Given the description of an element on the screen output the (x, y) to click on. 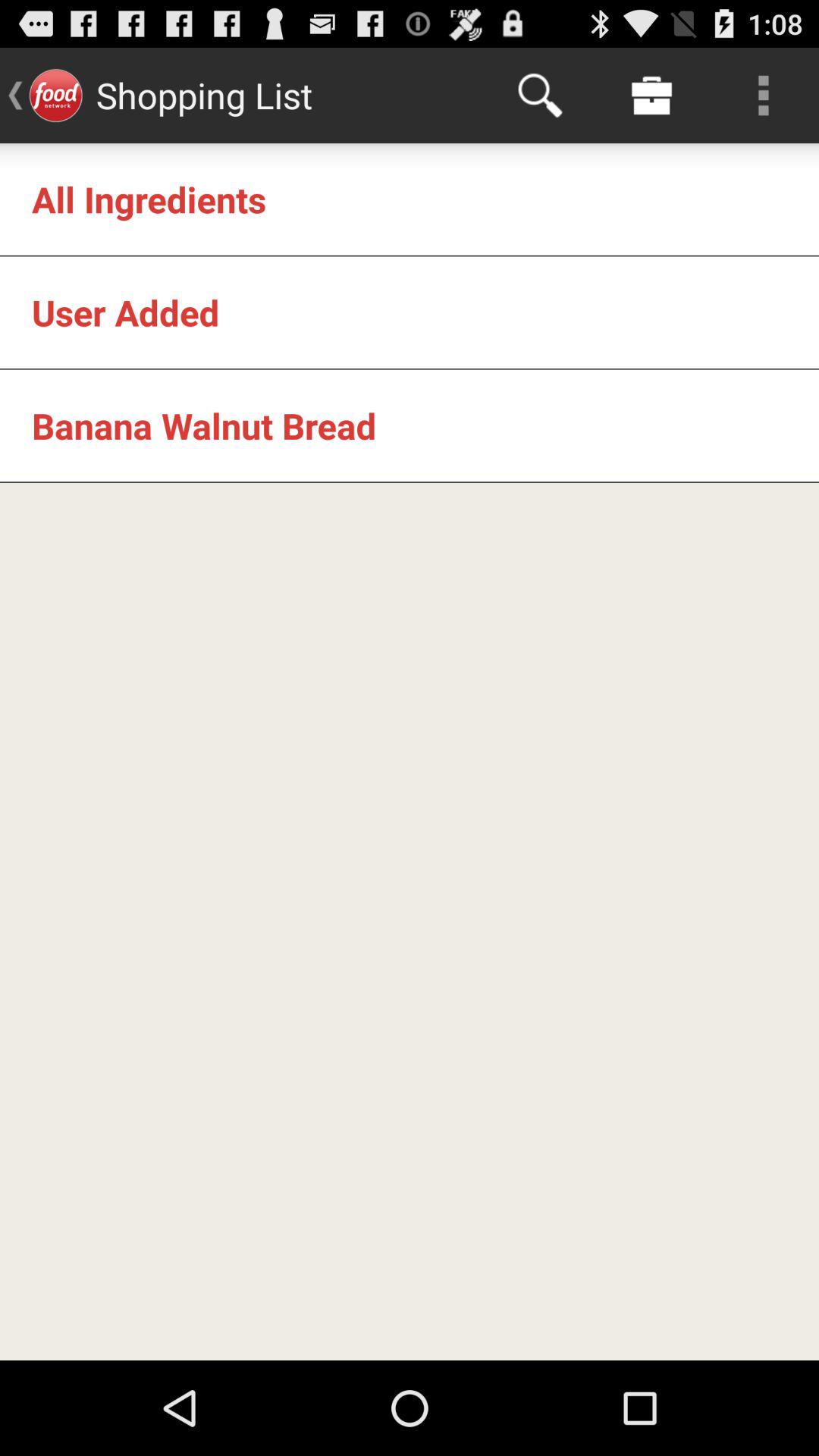
swipe until all ingredients icon (148, 199)
